Given the description of an element on the screen output the (x, y) to click on. 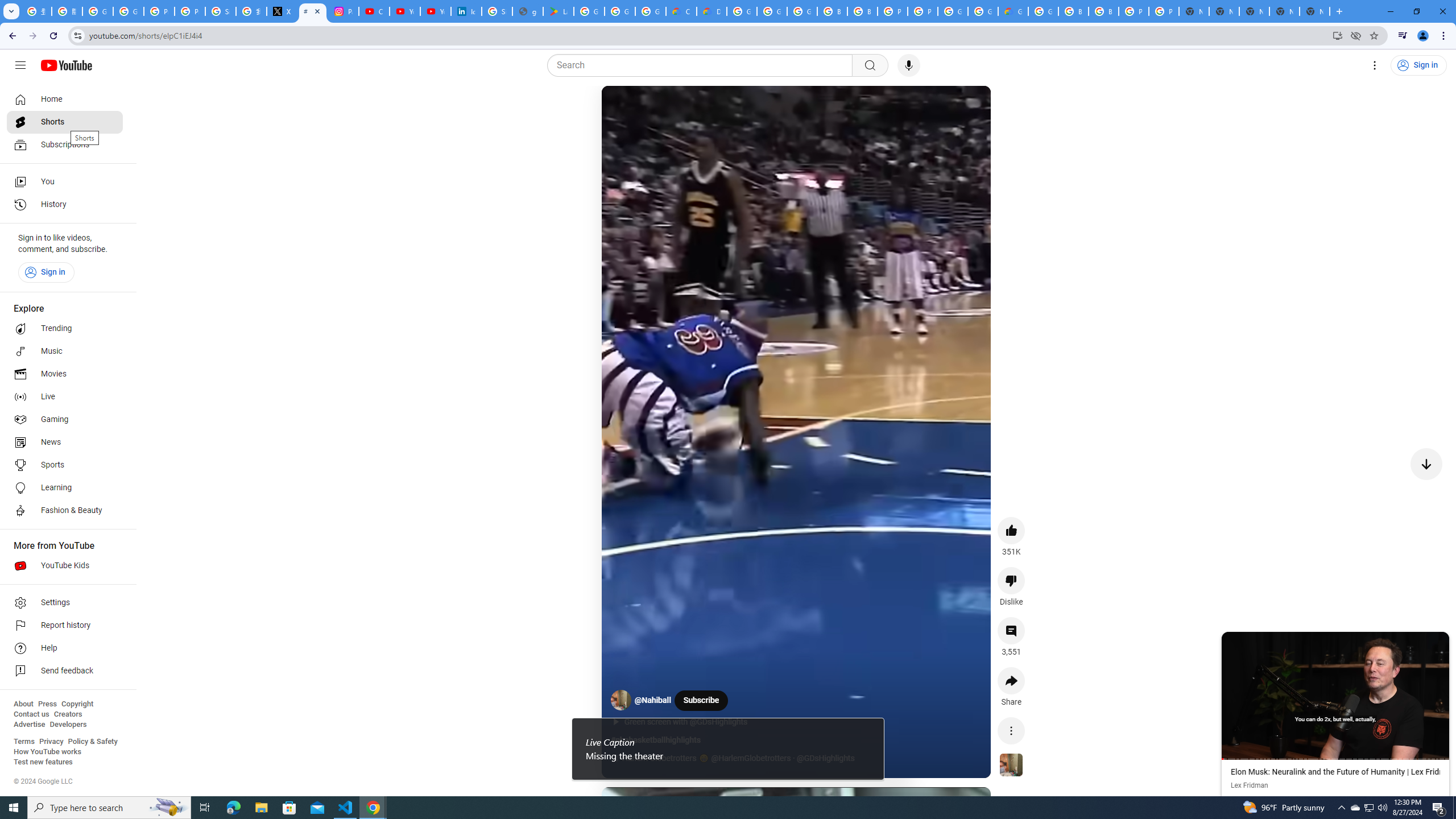
Send feedback (64, 671)
Live (64, 396)
Google Workspace - Specific Terms (650, 11)
Privacy Help Center - Policies Help (158, 11)
Contact us (31, 714)
Green screen with @GDsHighlights (692, 722)
Search (869, 65)
Policy & Safety (91, 741)
Terms (23, 741)
Mute (657, 108)
Customer Care | Google Cloud (681, 11)
Movies (64, 373)
